Given the description of an element on the screen output the (x, y) to click on. 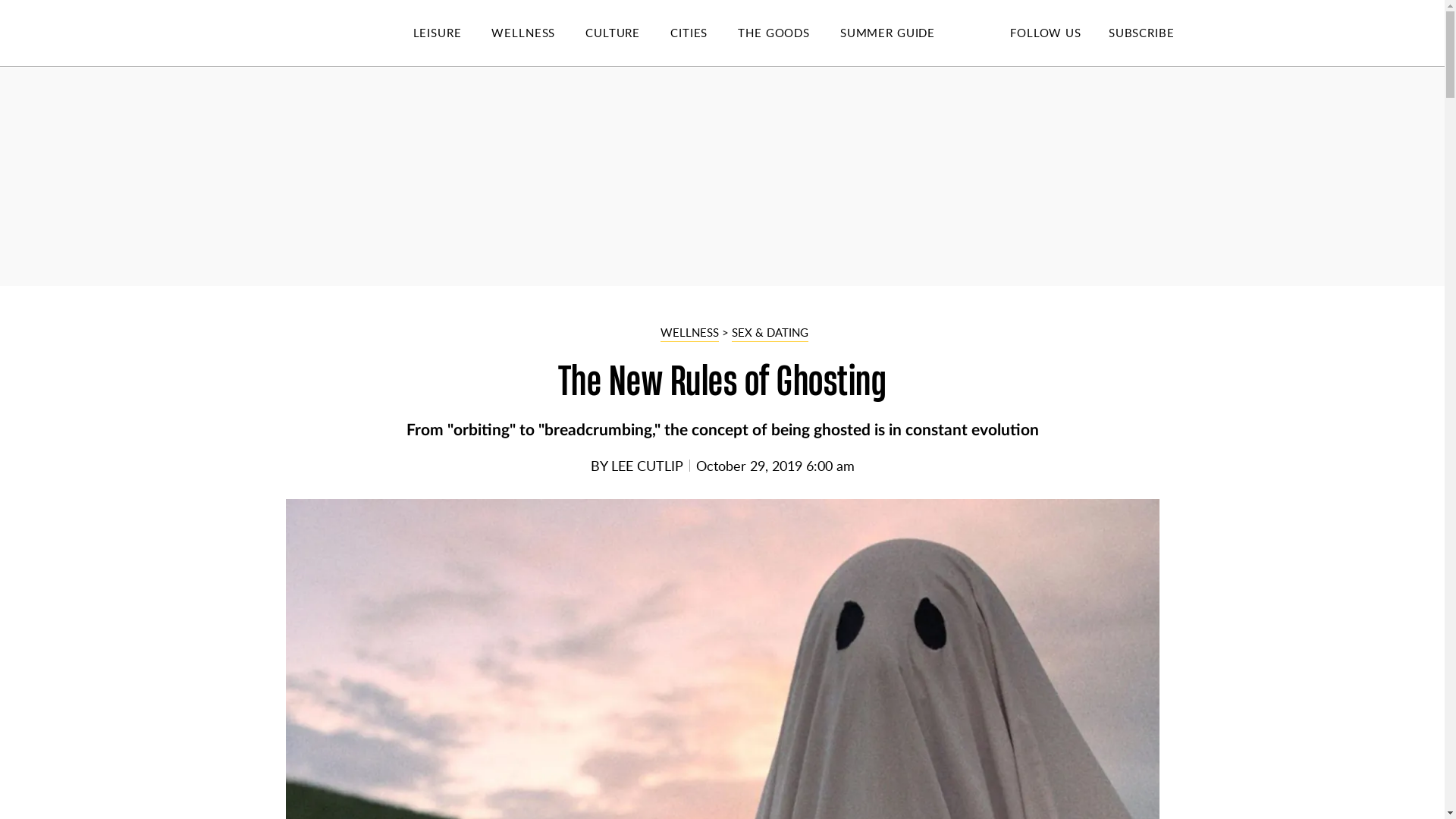
THE GOODS (789, 32)
SUBSCRIBE (1141, 31)
WELLNESS (538, 32)
CITIES (703, 32)
FOLLOW US (1045, 32)
CULTURE (627, 32)
LEISURE (452, 32)
SUMMER GUIDE (902, 32)
